Given the description of an element on the screen output the (x, y) to click on. 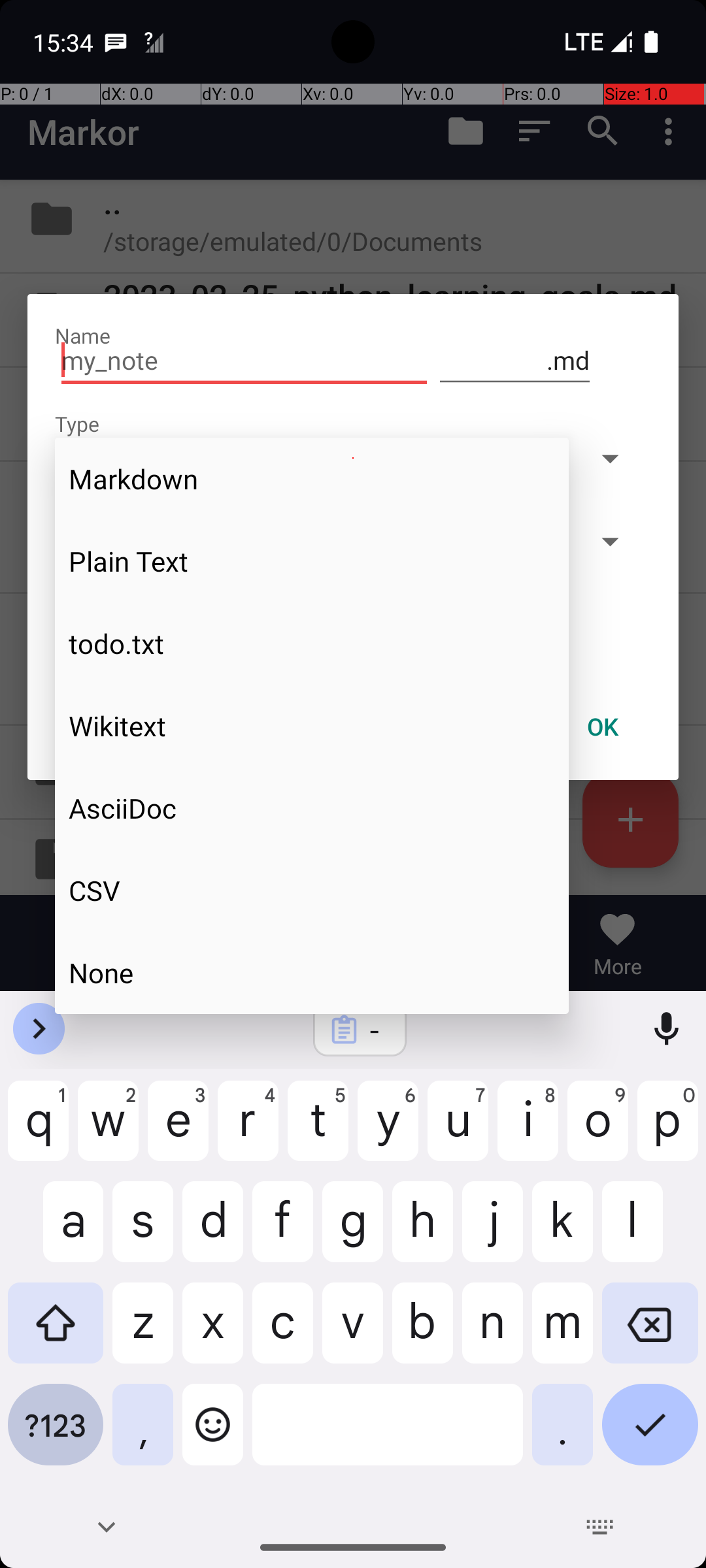
CSV Element type: android.widget.TextView (311, 890)
